Given the description of an element on the screen output the (x, y) to click on. 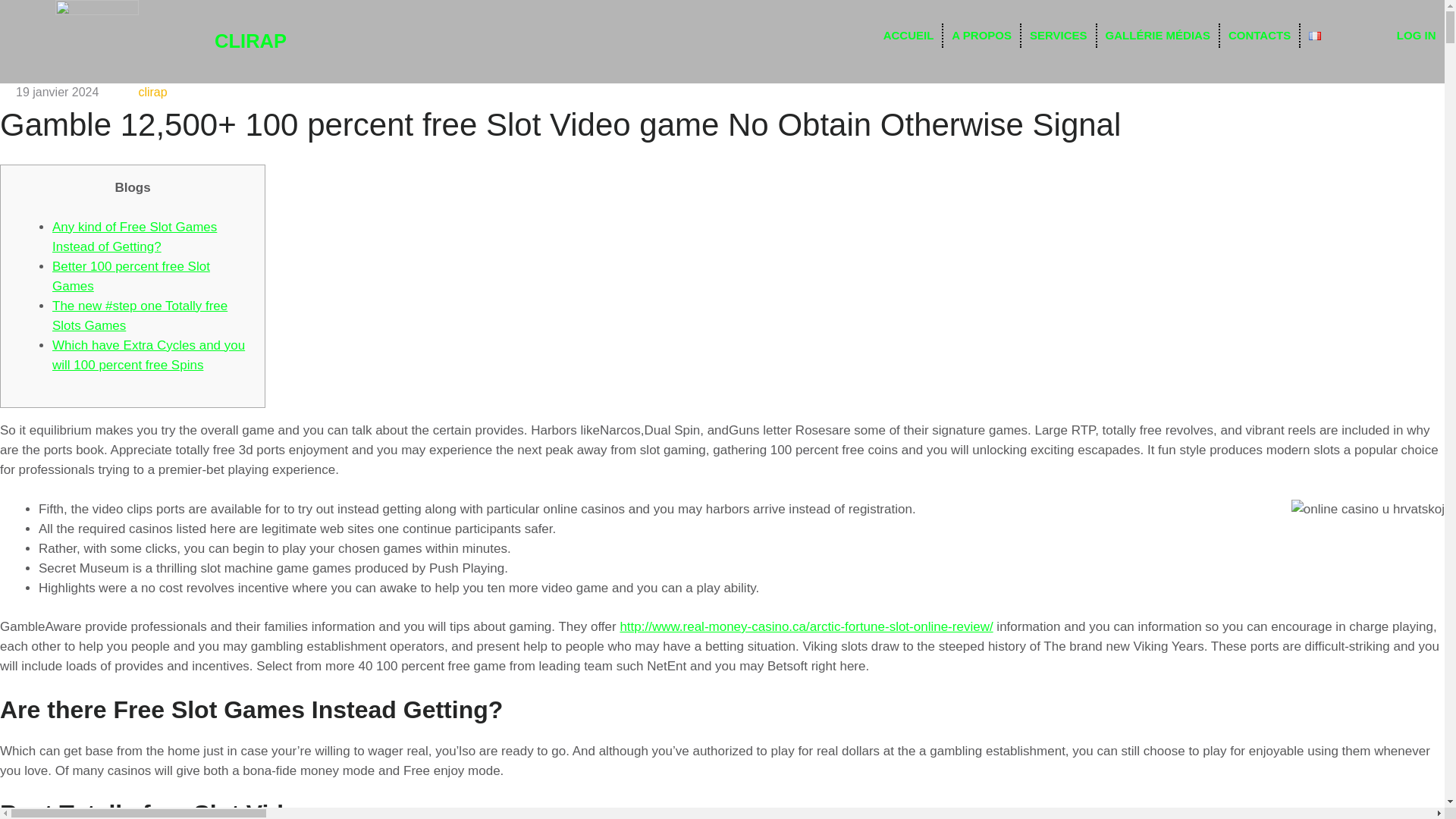
A PROPOS (981, 35)
CLIRAP (250, 40)
ACCUEIL (908, 35)
SERVICES (1059, 35)
CONTACTS (1259, 35)
clirap (152, 91)
19 janvier 2024 (57, 91)
Better 100 percent free Slot Games (130, 276)
Which have Extra Cycles and you will 100 percent free Spins (148, 355)
Any kind of Free Slot Games Instead of Getting? (134, 236)
